Given the description of an element on the screen output the (x, y) to click on. 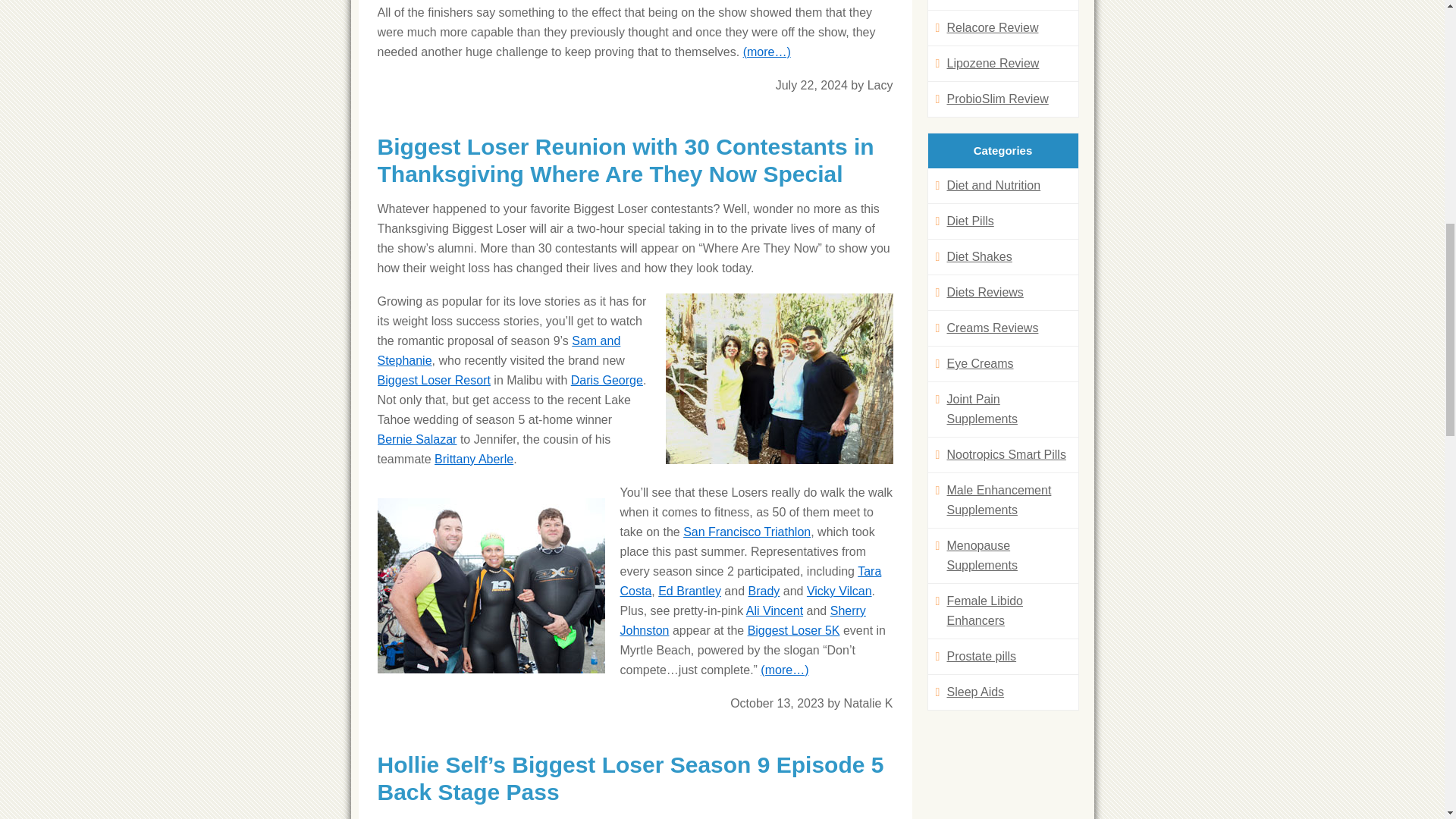
bernie salazar biggest loser (417, 439)
sam steph daris renee (779, 378)
sam and stephanie (499, 350)
brittany aberle biggest loser (473, 459)
brady vilcan biggest loser (763, 590)
san francisco triathlon biggest loser (746, 531)
tara costa biggest loser (751, 581)
vicky vilcan biggest loser (839, 590)
BL Tri (491, 585)
biggest loser resort (433, 379)
